Given the description of an element on the screen output the (x, y) to click on. 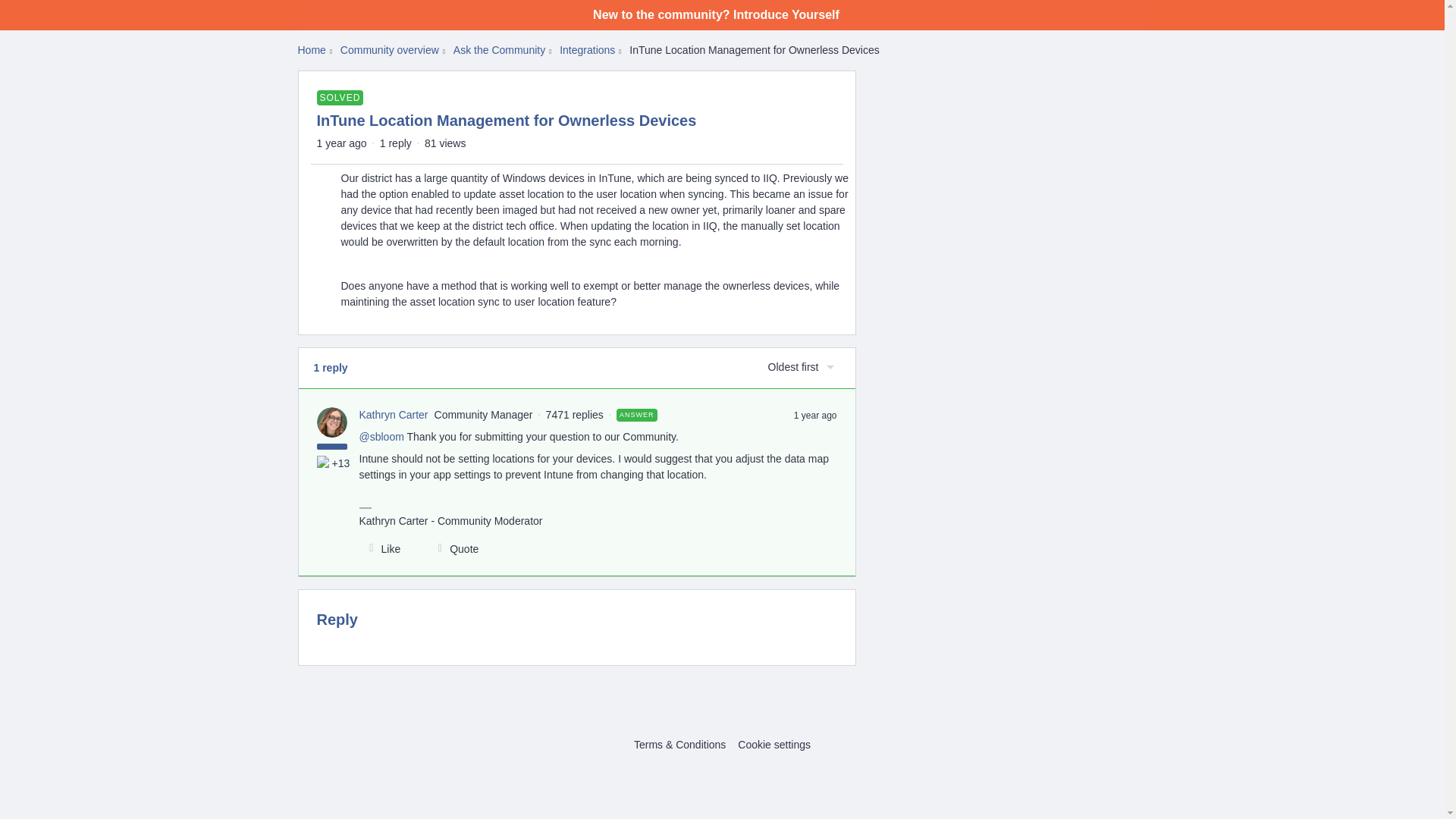
1 reply (396, 143)
Integrations (586, 50)
2 Year Member (324, 462)
Home (310, 50)
Visit Gainsight.com (722, 712)
Kathryn Carter (393, 414)
Ask the Community (498, 50)
Like (380, 548)
Kathryn Carter (393, 414)
Cookie settings (774, 744)
